Given the description of an element on the screen output the (x, y) to click on. 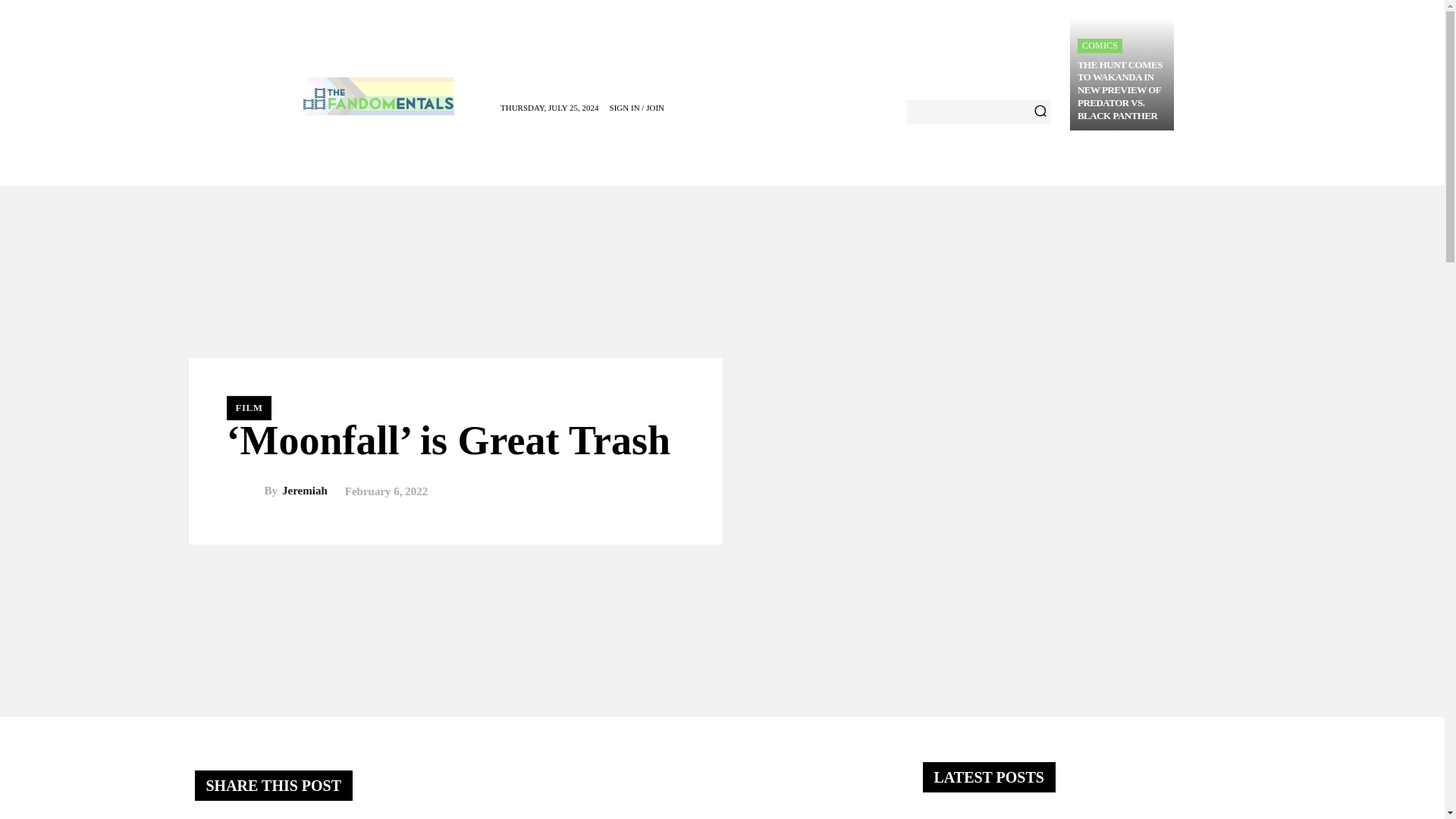
COMICS (1099, 45)
Jeremiah (244, 490)
